Given the description of an element on the screen output the (x, y) to click on. 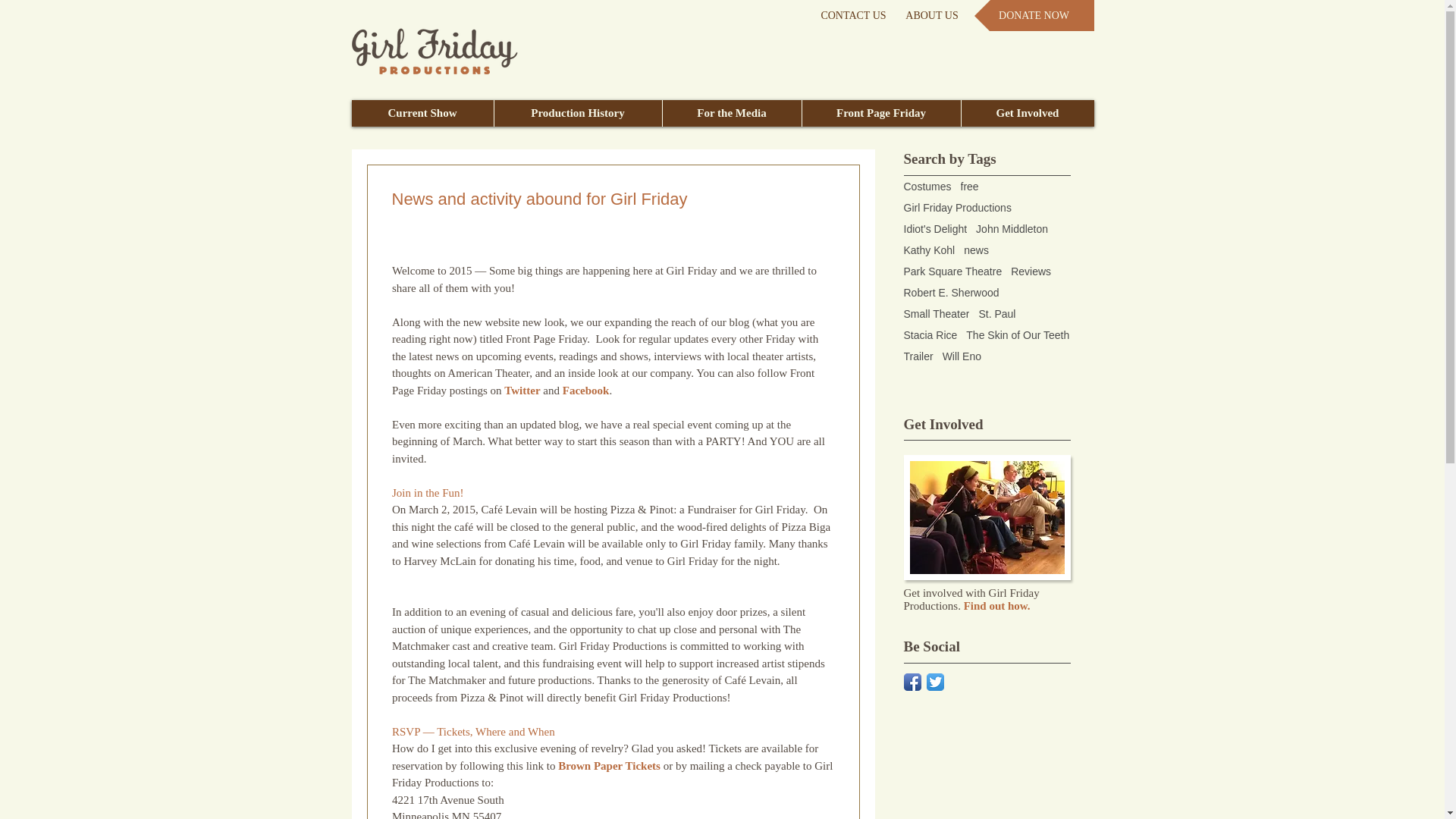
Costumes (928, 186)
Small Theater (936, 313)
Get Involved (1026, 112)
John Middleton (1011, 228)
Stacia Rice (931, 335)
Kathy Kohl (929, 250)
ABOUT US (931, 15)
Current Show (422, 112)
free (969, 186)
Reviews (1030, 271)
